Given the description of an element on the screen output the (x, y) to click on. 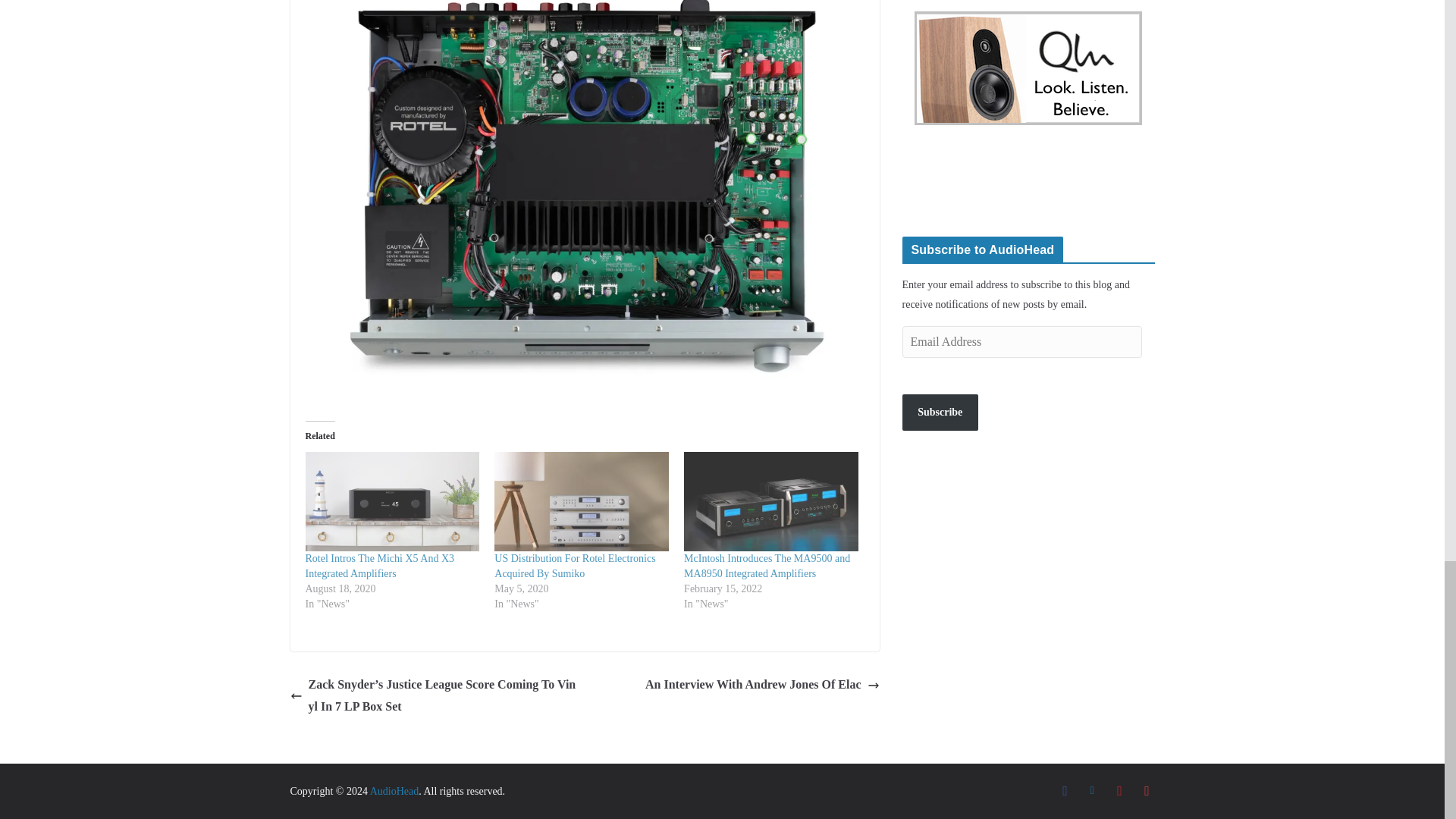
Rotel Intros The Michi X5 And X3 Integrated Amplifiers (391, 501)
Rotel Intros The Michi X5 And X3 Integrated Amplifiers (379, 565)
An Interview With Andrew Jones Of Elac (762, 685)
US Distribution For Rotel Electronics Acquired By Sumiko (575, 565)
AudioHead (394, 790)
US Distribution For Rotel Electronics Acquired By Sumiko (581, 501)
US Distribution For Rotel Electronics Acquired By Sumiko (575, 565)
Rotel Intros The Michi X5 And X3 Integrated Amplifiers (379, 565)
